Given the description of an element on the screen output the (x, y) to click on. 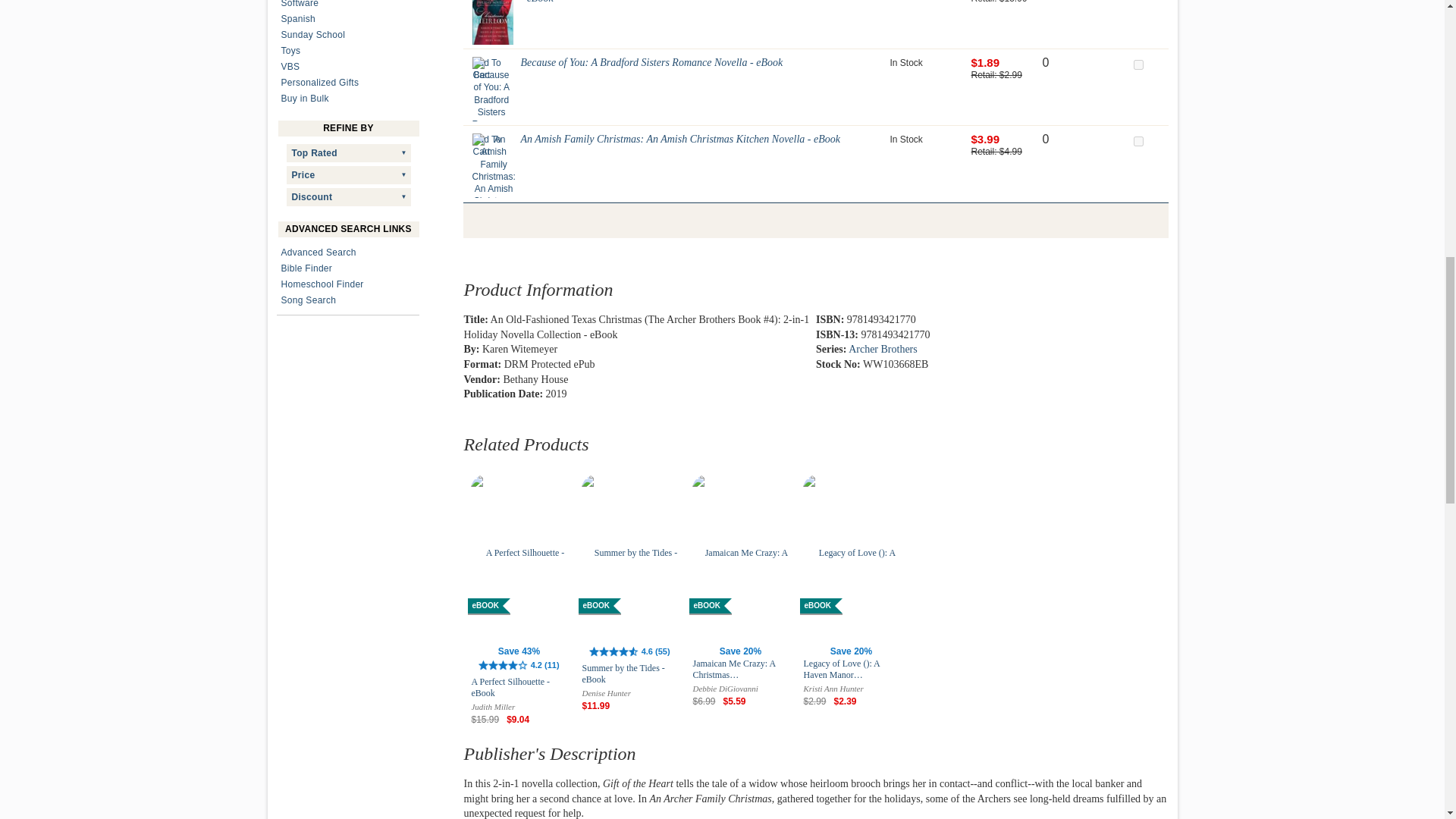
103666EB (1137, 64)
107520EB (1137, 141)
